Given the description of an element on the screen output the (x, y) to click on. 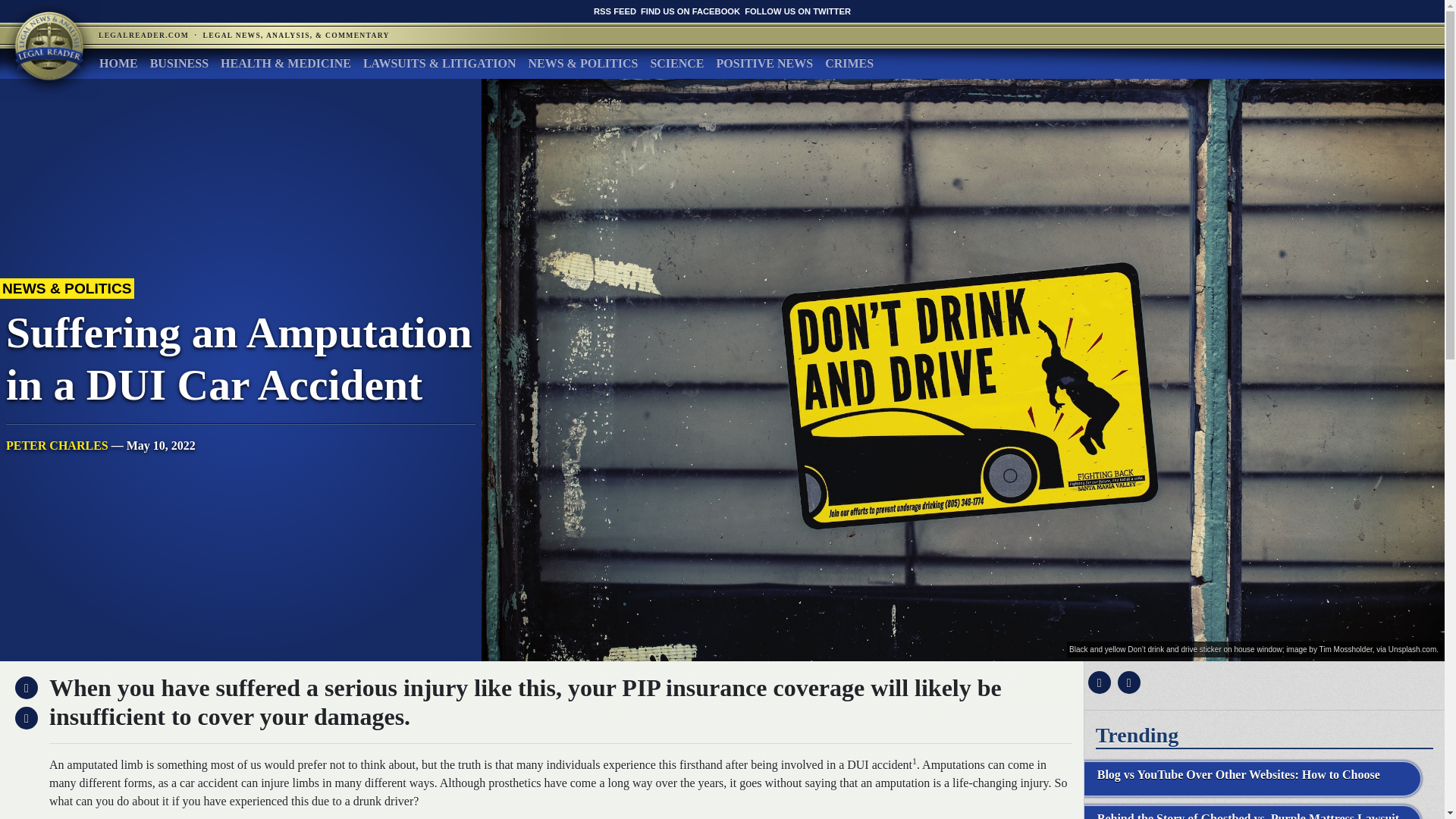
Home (118, 63)
Share on facebook (1097, 682)
FIND US ON FACEBOOK (689, 10)
POSITIVE NEWS (764, 63)
Posts by Peter Charles (56, 445)
Business (179, 63)
CRIMES (848, 63)
SCIENCE (676, 63)
Crimes (848, 63)
RSS FEED (615, 10)
